Given the description of an element on the screen output the (x, y) to click on. 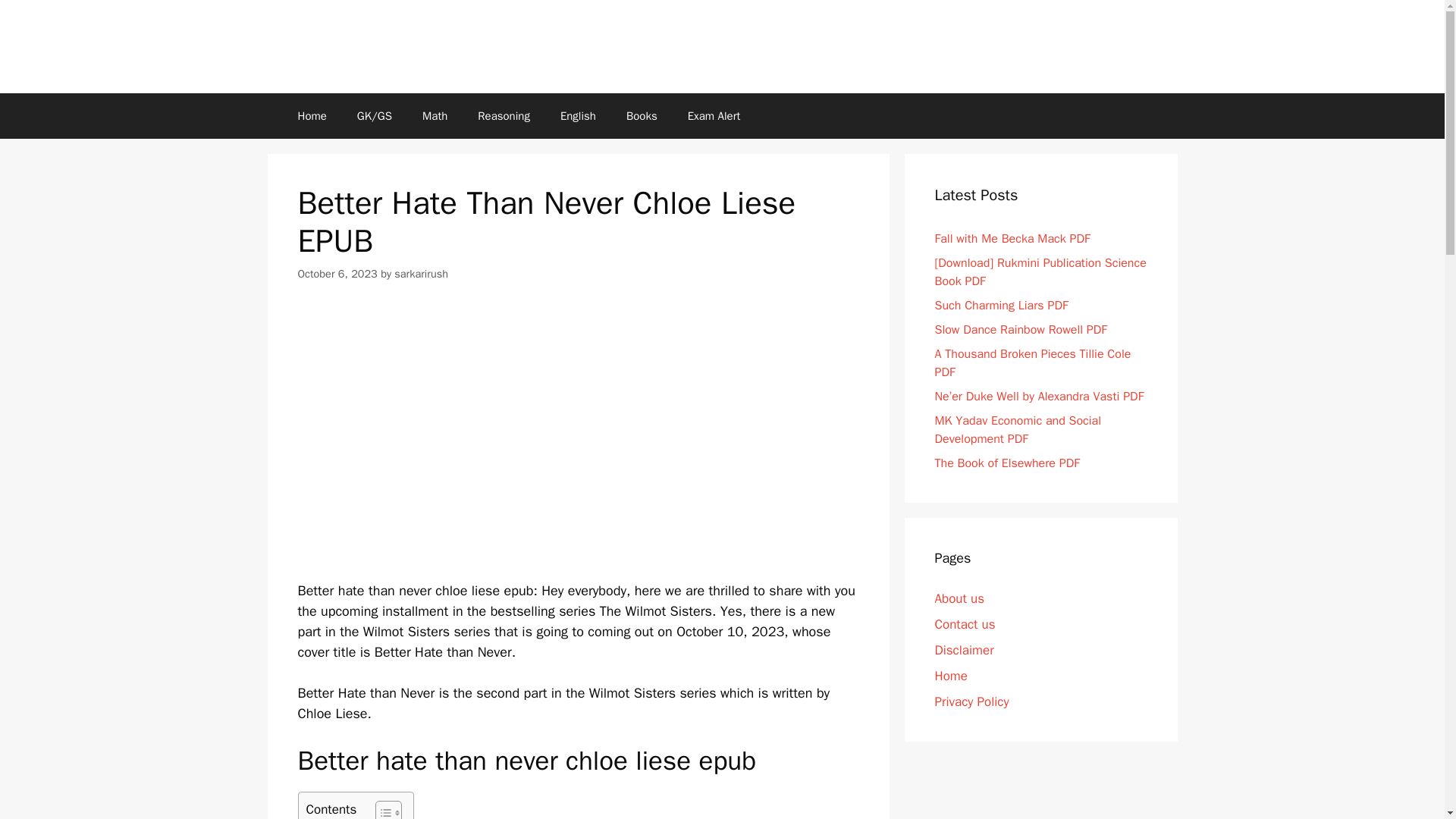
sarkarirush (421, 273)
English (577, 115)
Reasoning (503, 115)
Slow Dance Rainbow Rowell PDF (1020, 329)
Such Charming Liars PDF (1000, 305)
Fall with Me Becka Mack PDF (1011, 238)
Exam Alert (713, 115)
View all posts by sarkarirush (421, 273)
Books (641, 115)
Home (311, 115)
Math (435, 115)
